Given the description of an element on the screen output the (x, y) to click on. 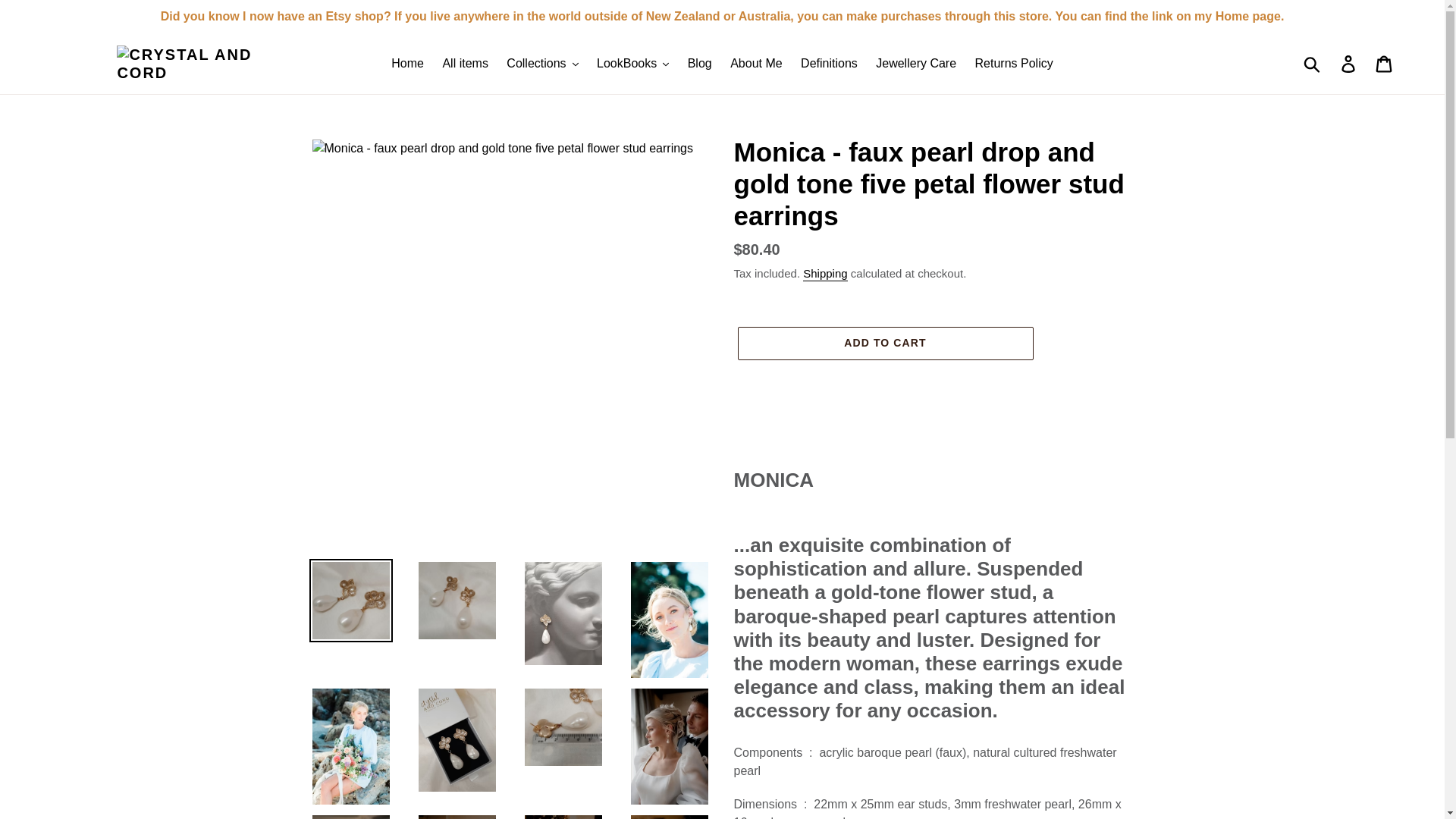
Returns Policy (1014, 63)
Home (407, 63)
Cart (1385, 63)
Blog (699, 63)
Definitions (828, 63)
About Me (755, 63)
All items (464, 63)
Submit (1313, 63)
Log in (1349, 63)
Jewellery Care (915, 63)
